Given the description of an element on the screen output the (x, y) to click on. 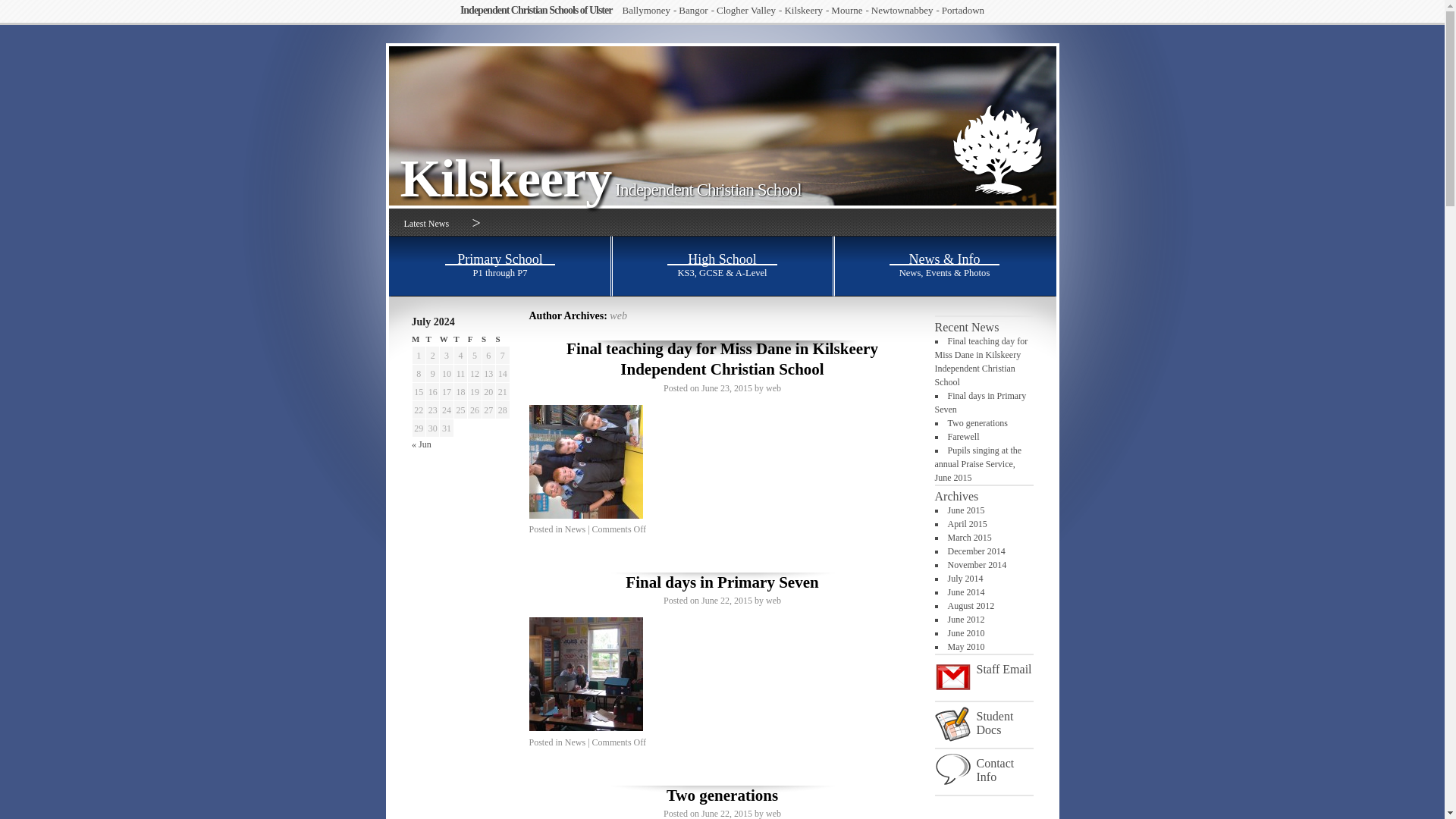
Permalink to Final days in Primary Seven (722, 582)
Sunday (502, 339)
View all posts by web (772, 600)
Tuesday (432, 339)
Mourne (850, 9)
Friday (474, 339)
June 22, 2015 (726, 813)
Newtownabbey (904, 9)
Saturday (488, 339)
web (772, 813)
Bangor (696, 9)
June 22, 2015 (726, 600)
June 23, 2015 (726, 388)
Wednesday (445, 339)
